Given the description of an element on the screen output the (x, y) to click on. 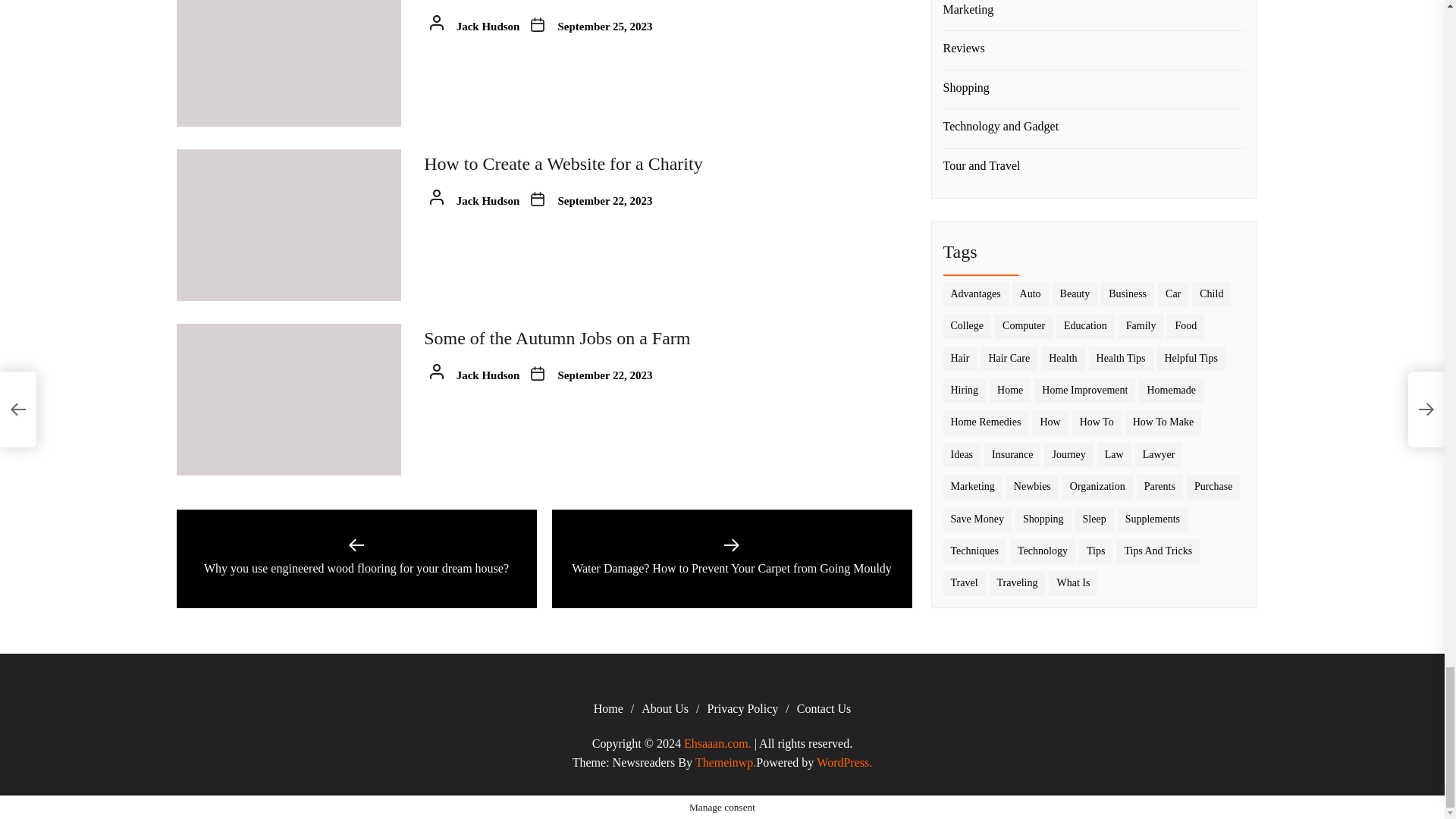
WordPress (844, 762)
Ehsaaan.com (717, 743)
Themeinwp (725, 762)
